Given the description of an element on the screen output the (x, y) to click on. 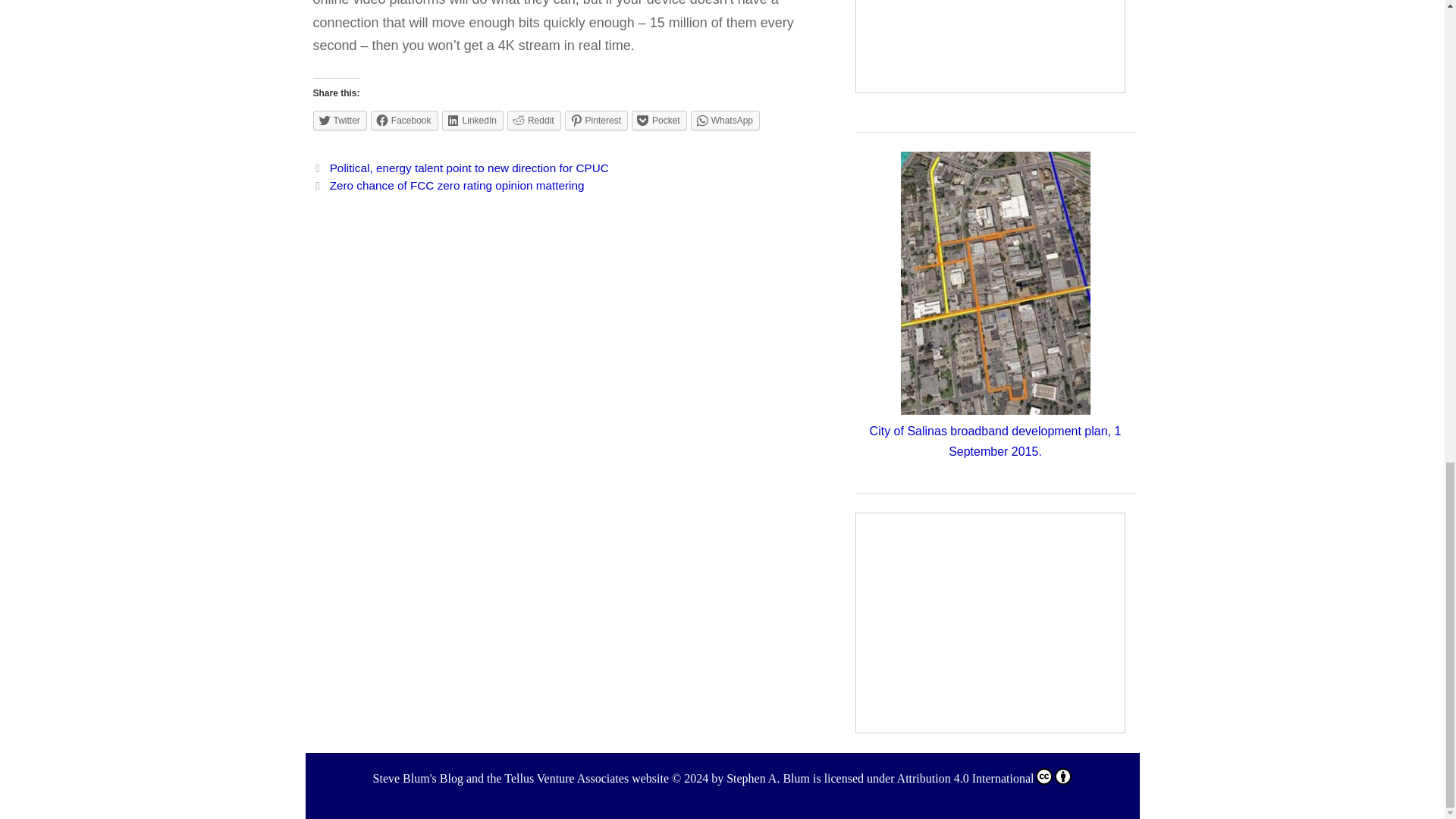
Click to share on Facebook (404, 120)
Click to share on WhatsApp (725, 120)
Click to share on Pocket (659, 120)
Click to share on Reddit (533, 120)
Next (448, 185)
Click to share on LinkedIn (472, 120)
Click to share on Pinterest (595, 120)
Previous (460, 167)
Click to share on Twitter (339, 120)
